Given the description of an element on the screen output the (x, y) to click on. 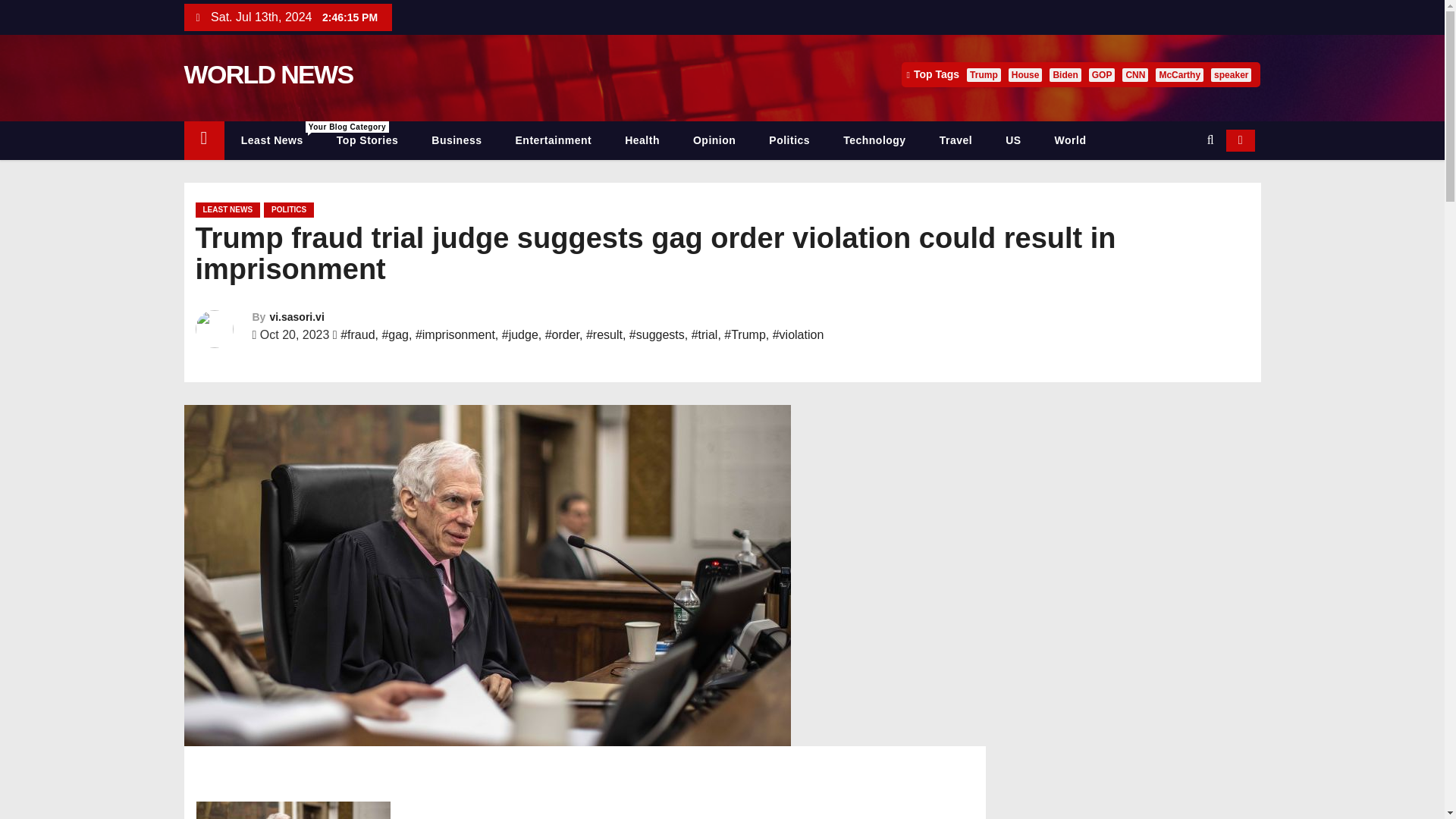
Health (642, 140)
Business (455, 140)
Home (203, 140)
GOP (1102, 74)
Politics (789, 140)
Politics (789, 140)
Trump (983, 74)
US (1012, 140)
Travel (955, 140)
Opinion (714, 140)
POLITICS (288, 209)
McCarthy (1180, 74)
World (1070, 140)
Entertainment (553, 140)
Top Stories (367, 140)
